Given the description of an element on the screen output the (x, y) to click on. 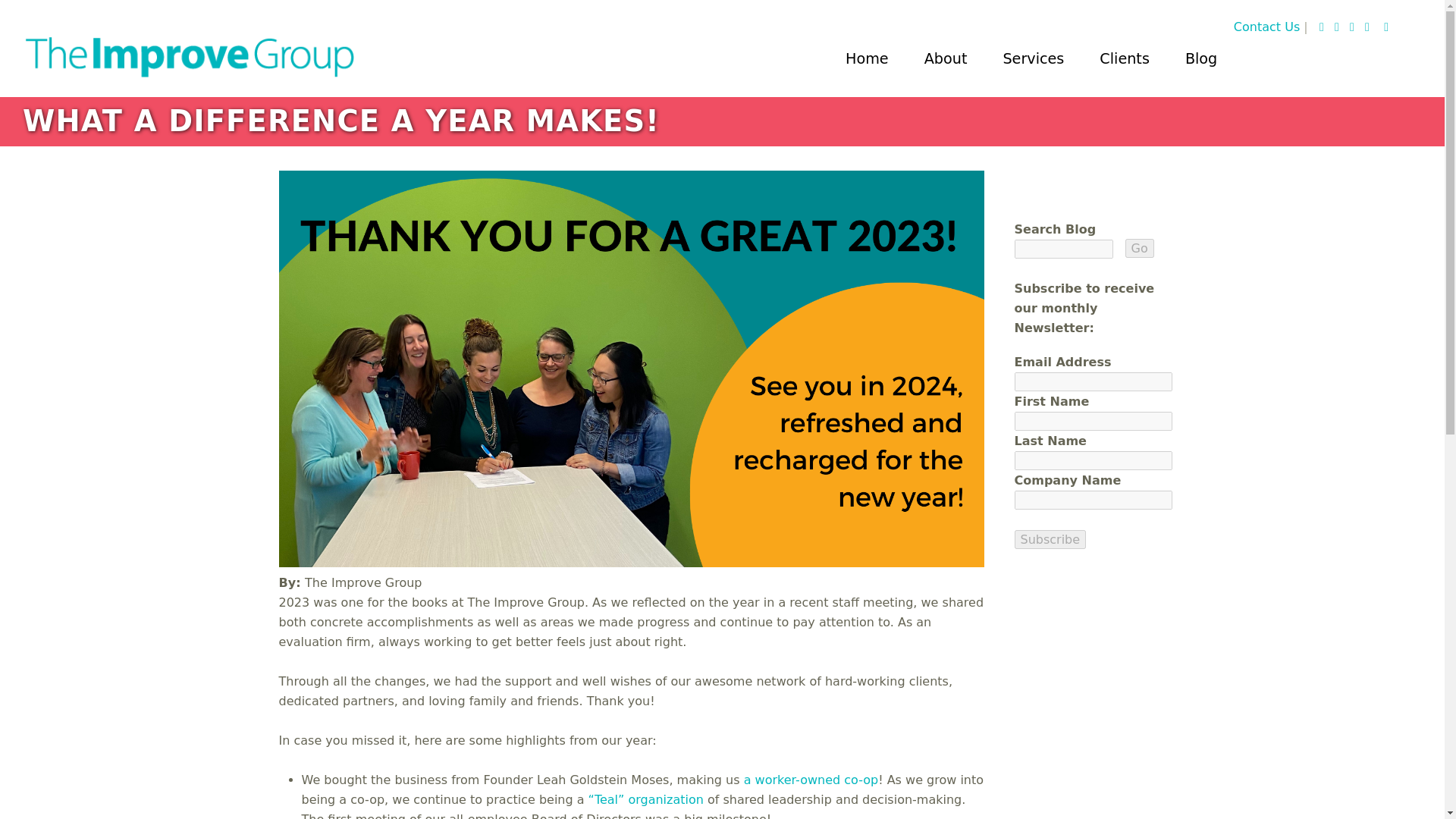
Like us on Facebook (1339, 26)
Subscribe (1050, 538)
Services (1032, 58)
Home (189, 46)
About (945, 58)
Go (1139, 248)
Blog (1201, 58)
Contact Us (1266, 26)
Home (866, 58)
a worker-owned co-op (811, 780)
Clients (1124, 58)
Subscribe (1050, 538)
Go (1139, 248)
